Given the description of an element on the screen output the (x, y) to click on. 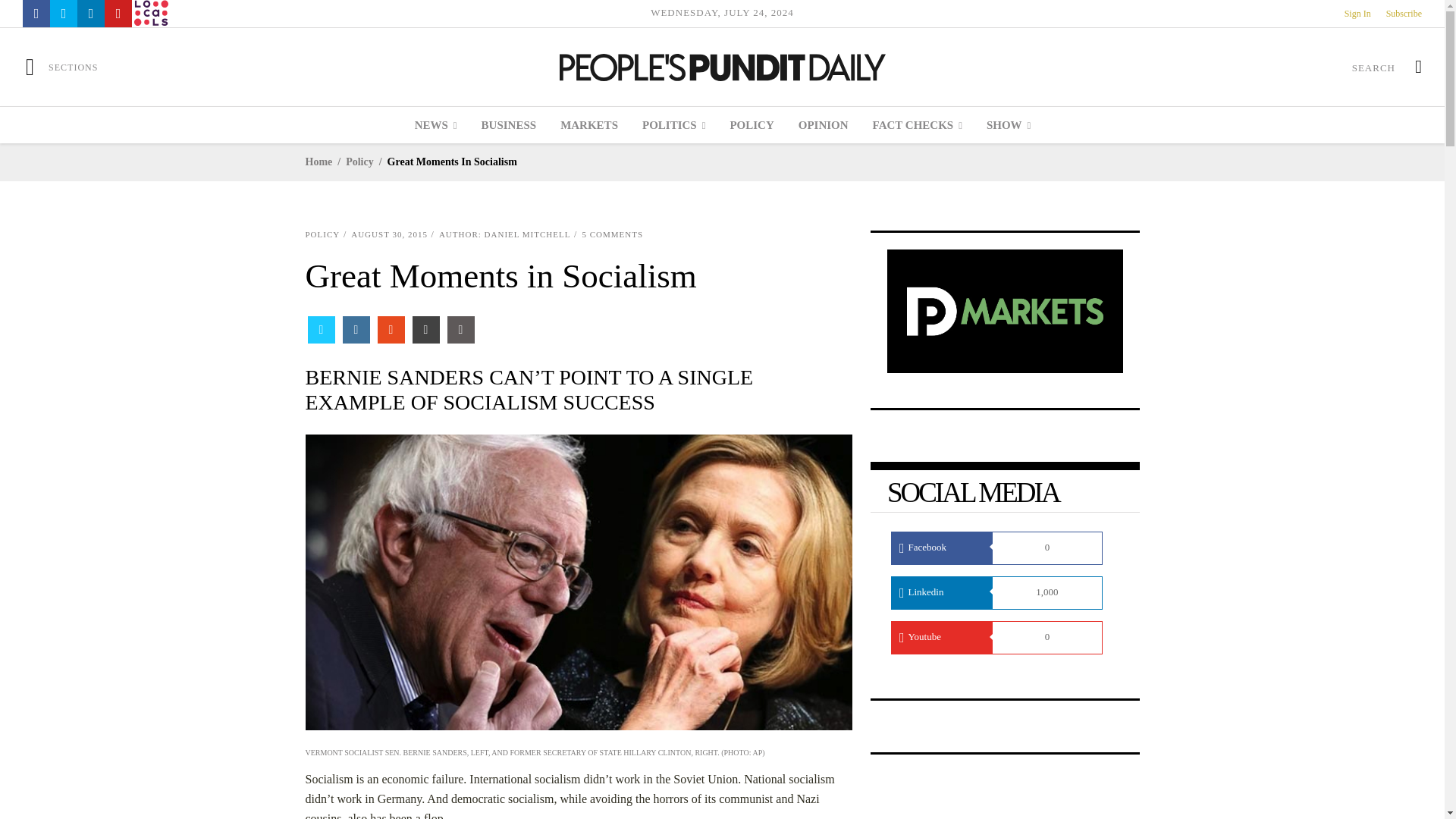
Markets (589, 125)
Politics (673, 125)
SECTIONS (61, 67)
Sign In (1357, 13)
Show (1008, 125)
Policy (751, 125)
News (435, 125)
Fact Checks (917, 125)
Business (508, 125)
NEWS (435, 125)
Subscribe (1404, 13)
Opinion (823, 125)
